Given the description of an element on the screen output the (x, y) to click on. 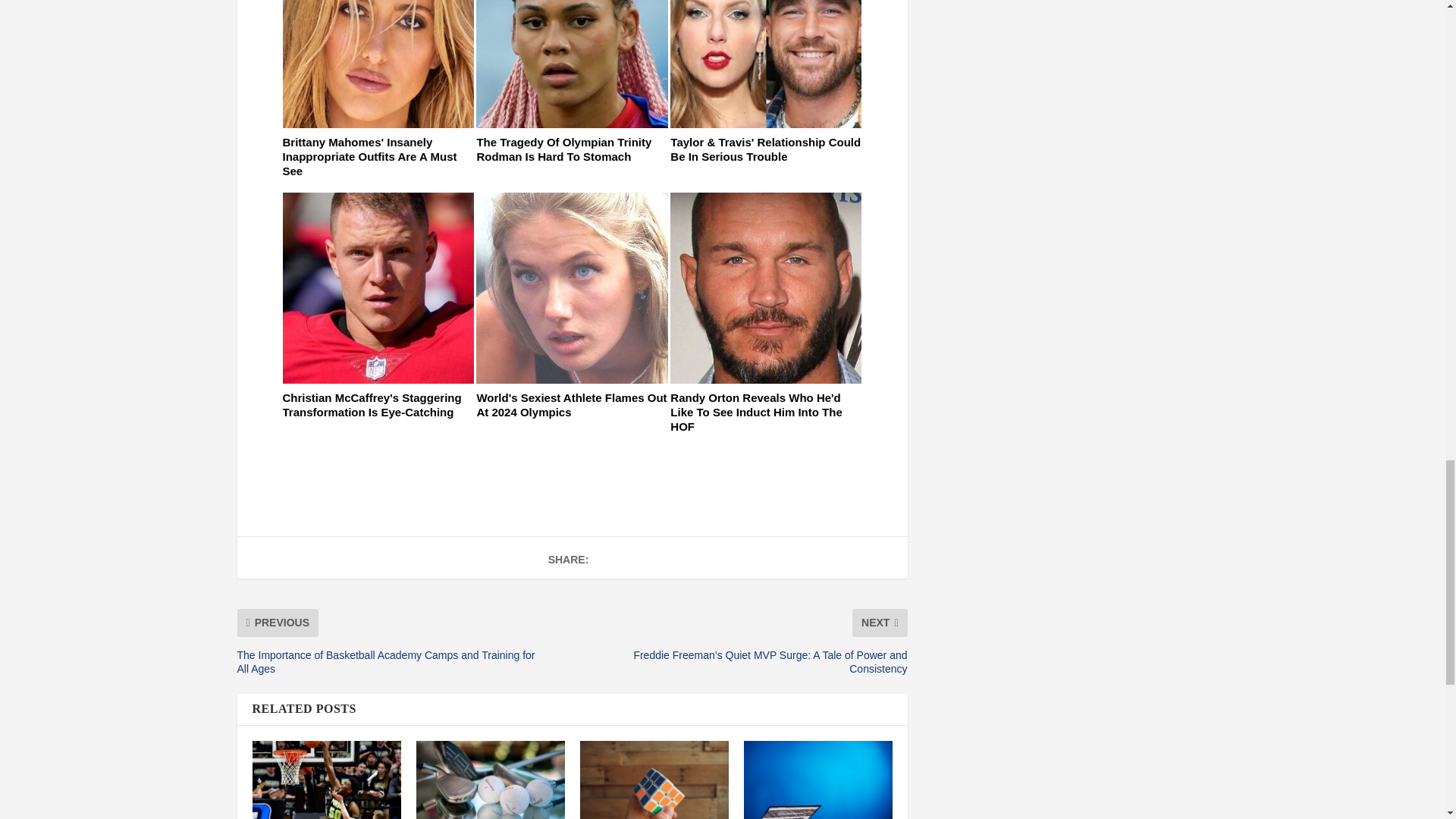
Six tips for choosing online sports betting website (816, 780)
4 tips for basketball enthusiasts (325, 780)
Big Sports Betting Payouts That Defy Belief (489, 780)
Easiest way to solve a rubix cube with pictures (653, 780)
